Given the description of an element on the screen output the (x, y) to click on. 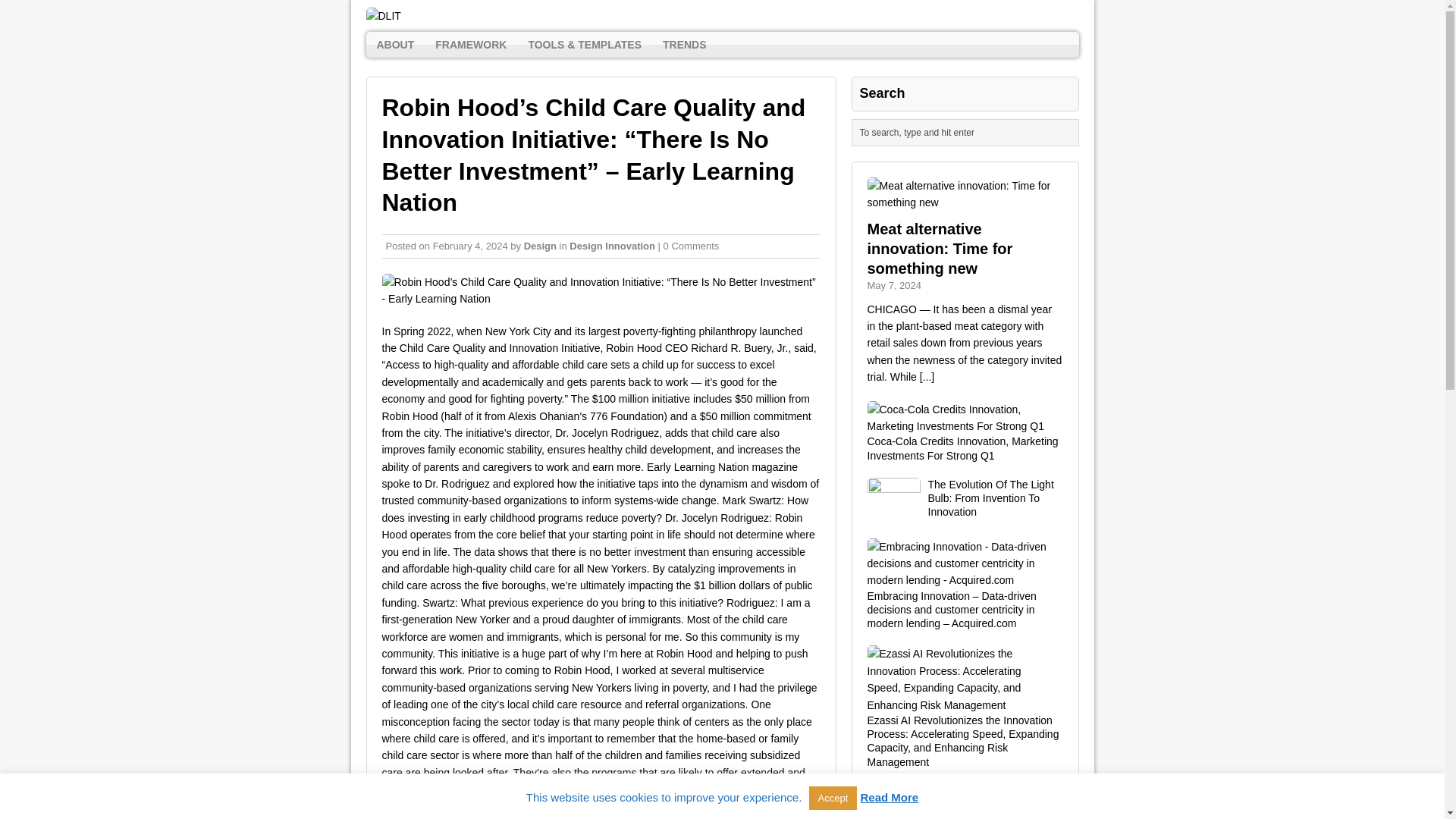
FRAMEWORK (470, 44)
To search, type and hit enter (968, 132)
Design (540, 245)
Design Innovation (612, 245)
ABOUT (395, 44)
Meat alternative innovation: Time for something new (940, 248)
Meat alternative innovation: Time for something new (940, 248)
TRENDS (684, 44)
